Given the description of an element on the screen output the (x, y) to click on. 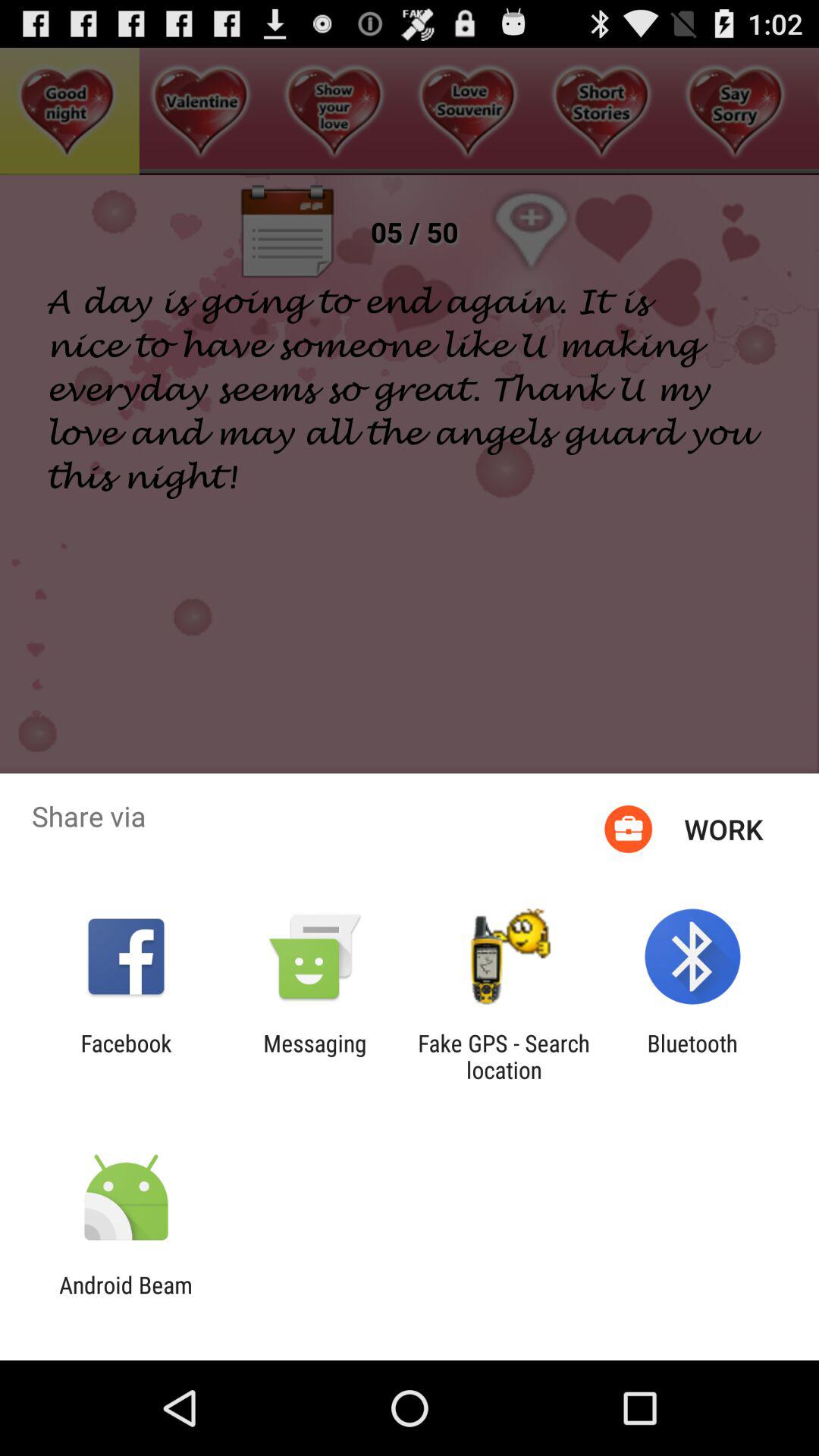
press app next to messaging item (125, 1056)
